Given the description of an element on the screen output the (x, y) to click on. 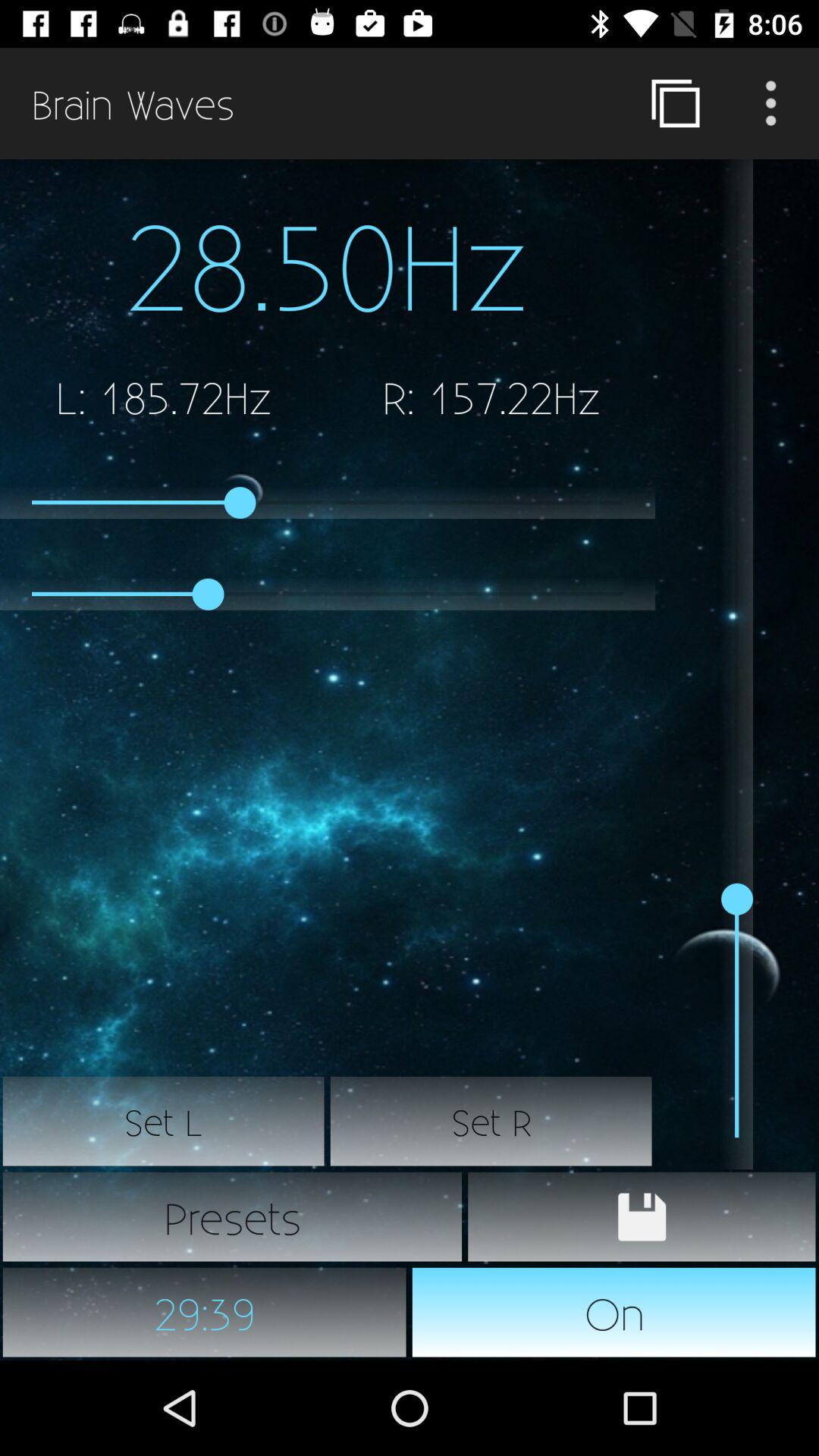
more (771, 103)
